Given the description of an element on the screen output the (x, y) to click on. 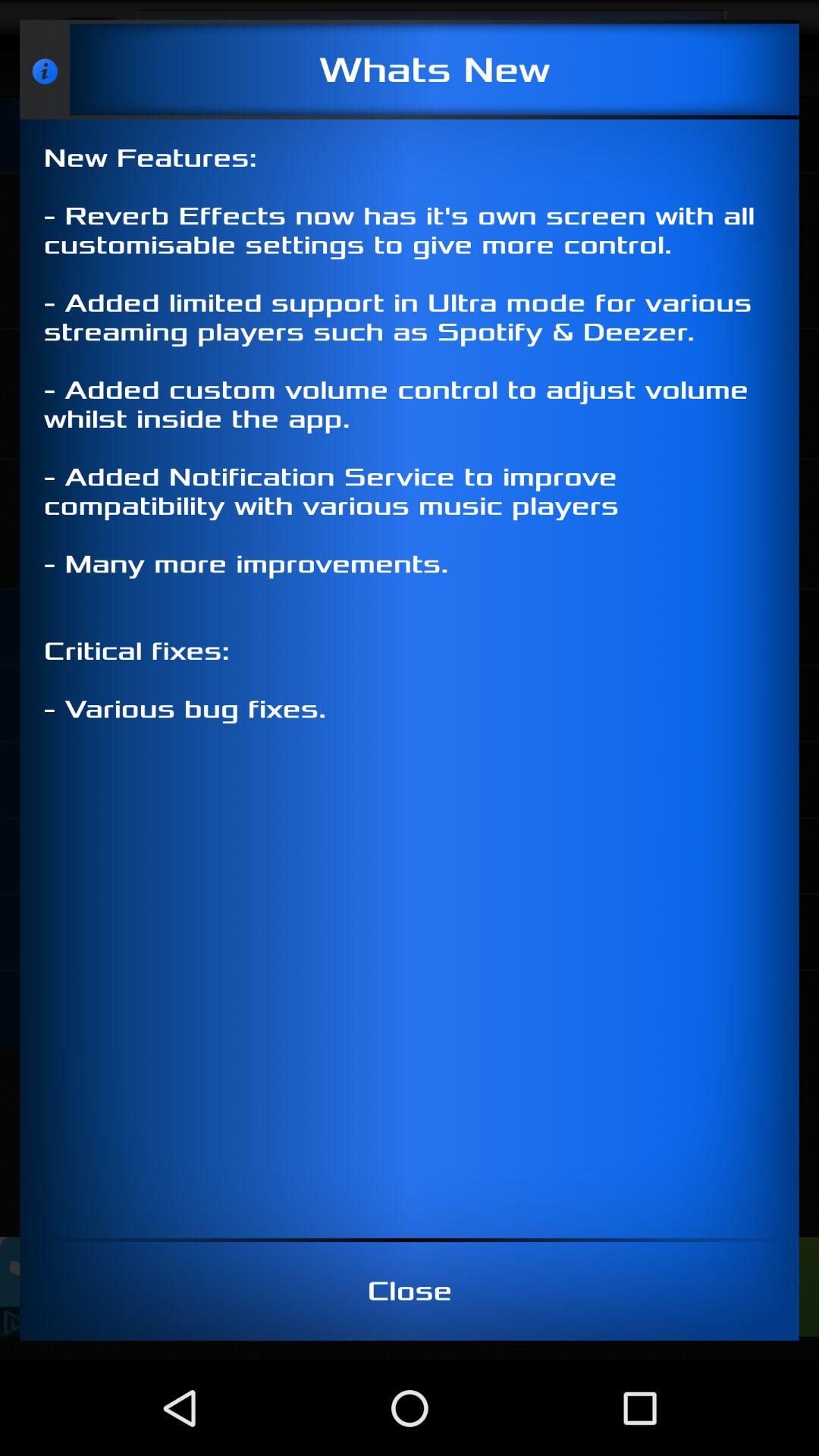
turn off new features reverb icon (409, 678)
